Given the description of an element on the screen output the (x, y) to click on. 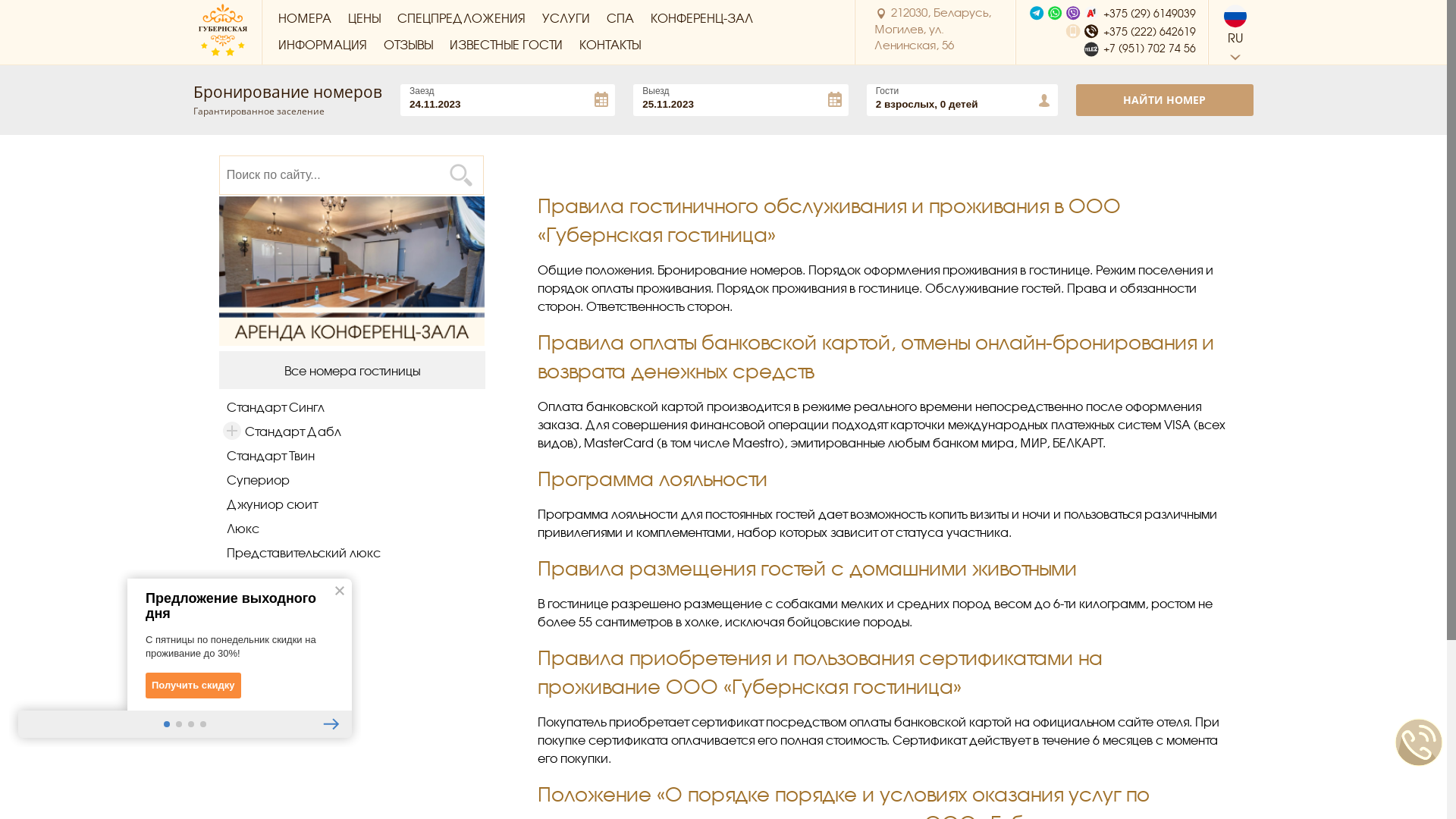
+375 (29) 6149039 Element type: text (1111, 12)
+7 (951) 702 74 56 Element type: text (1111, 49)
+375 (222) 642619 Element type: text (1111, 30)
